Given the description of an element on the screen output the (x, y) to click on. 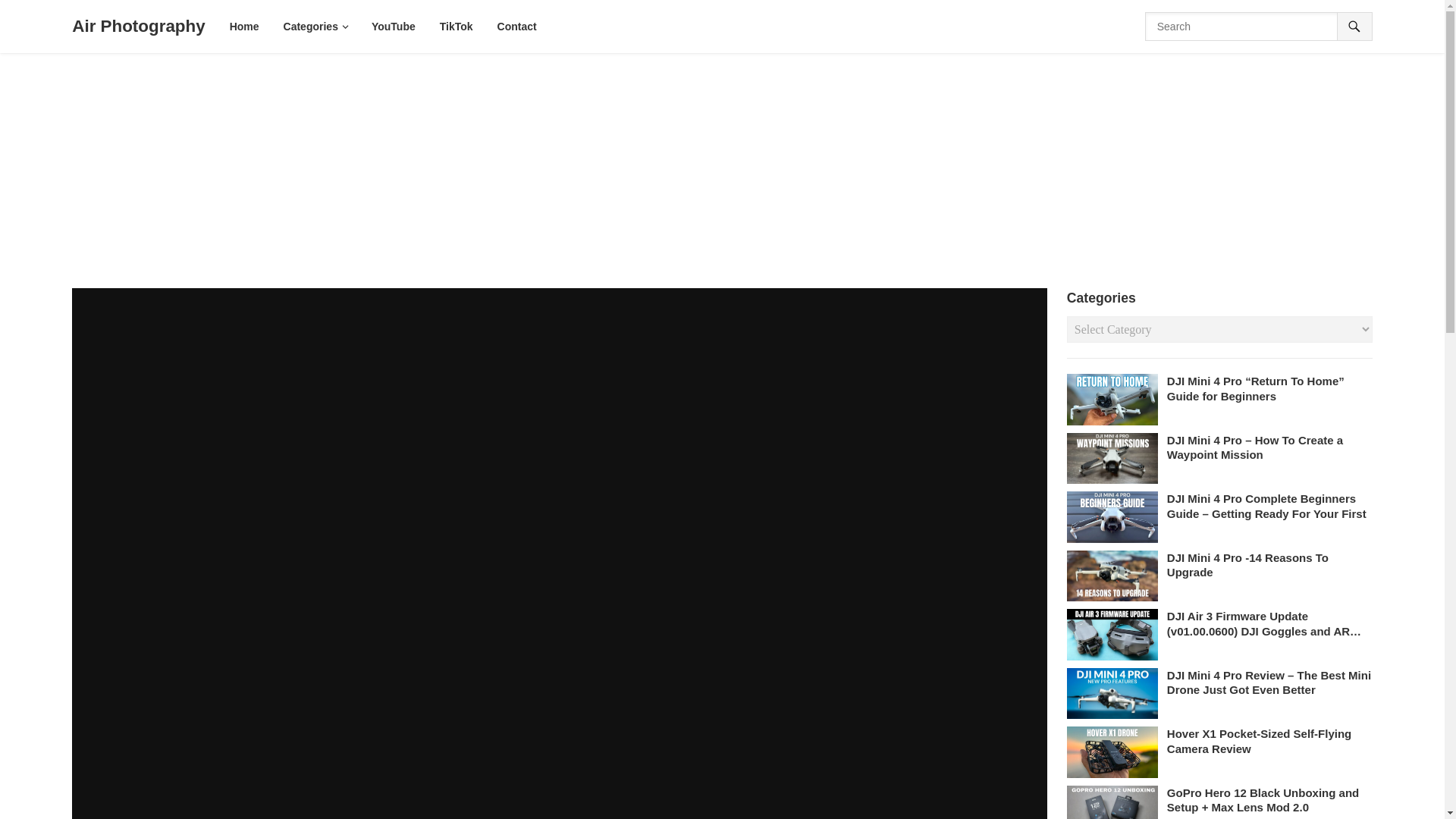
Air Photography (138, 26)
YouTube (392, 26)
Home (244, 26)
Categories (315, 26)
TikTok (456, 26)
Contact (517, 26)
